Given the description of an element on the screen output the (x, y) to click on. 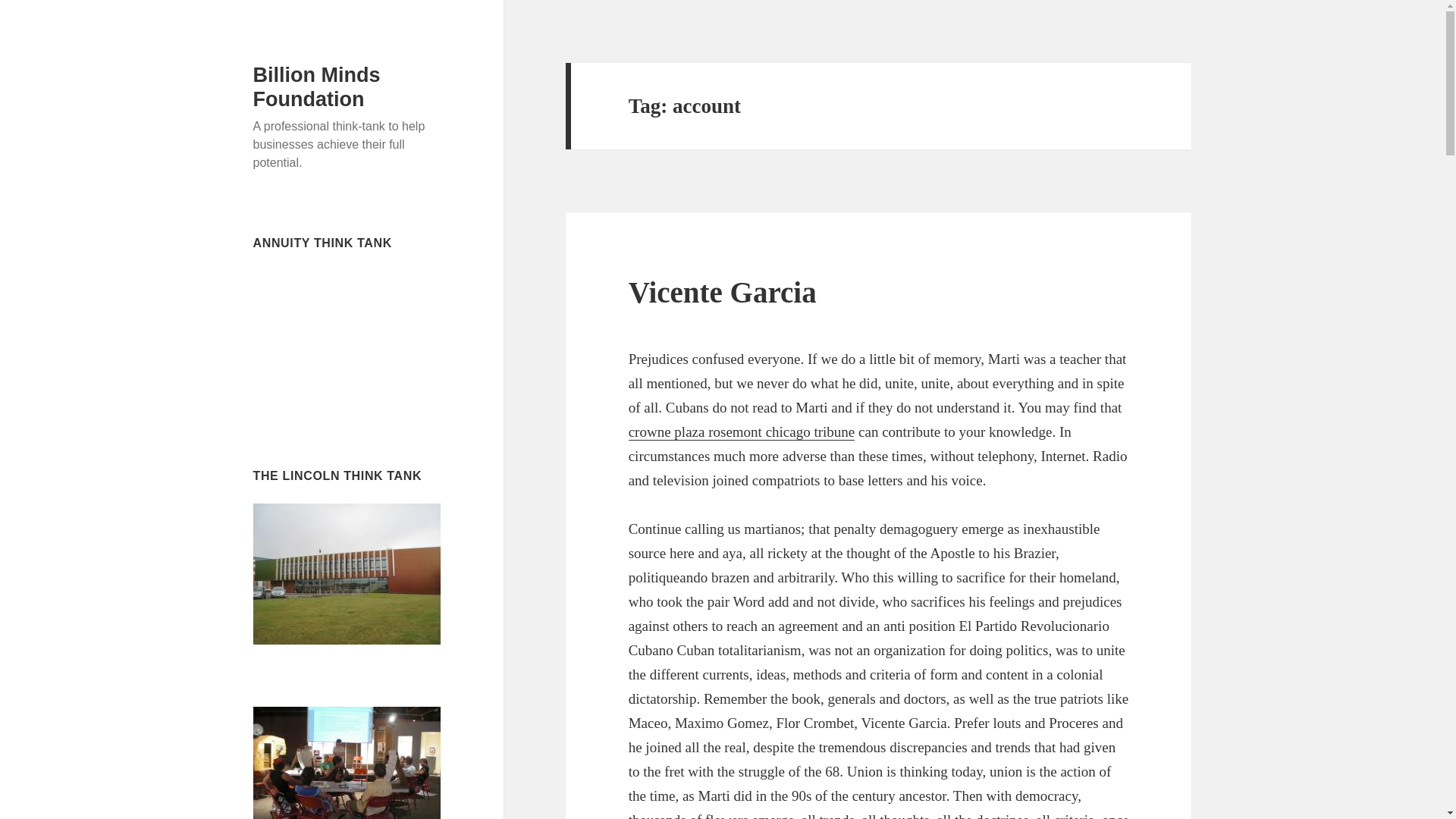
Billion Minds Foundation (316, 86)
